Given the description of an element on the screen output the (x, y) to click on. 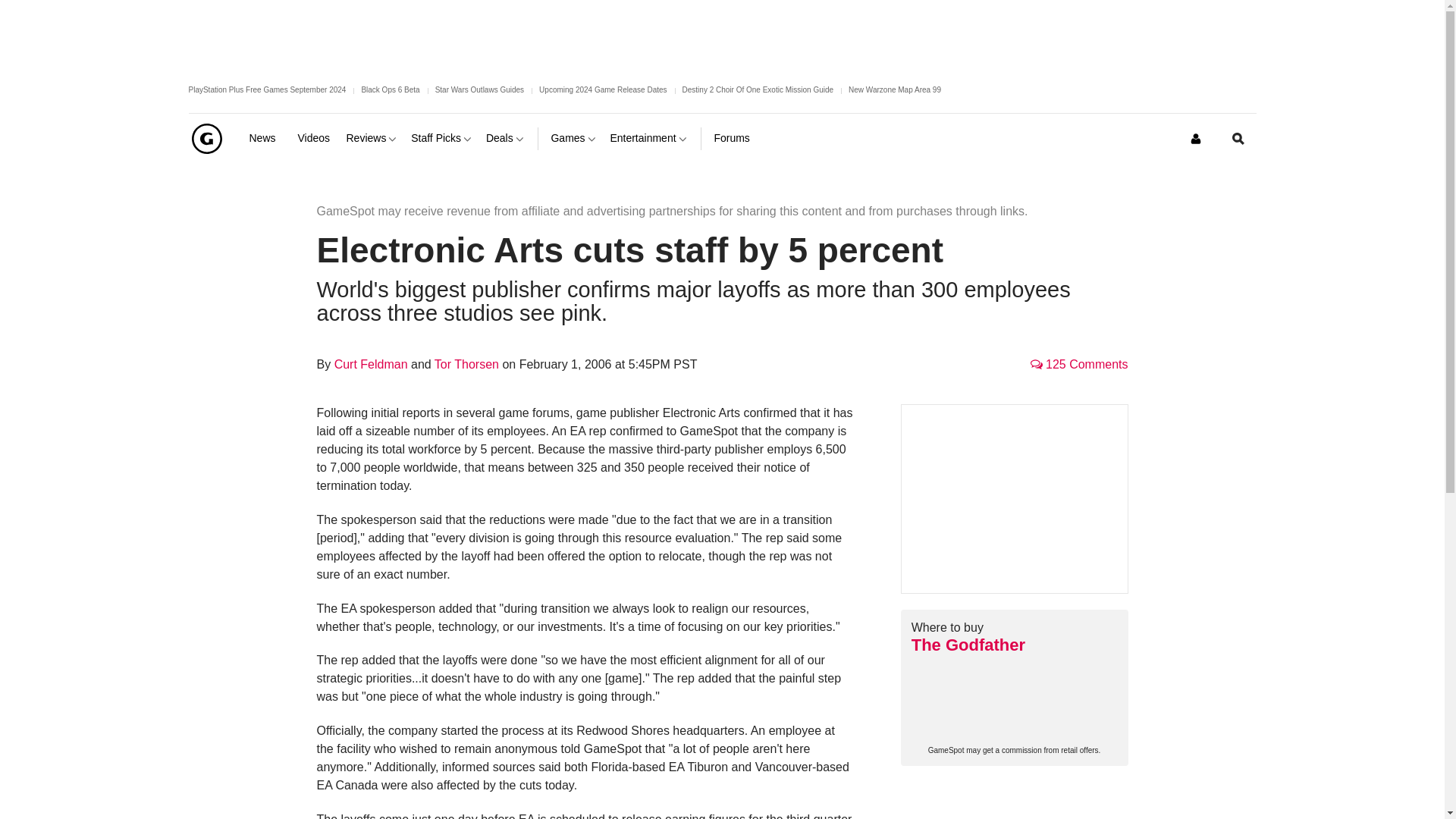
Upcoming 2024 Game Release Dates (602, 89)
Star Wars Outlaws Guides (479, 89)
GameSpot (205, 138)
New Warzone Map Area 99 (894, 89)
Staff Picks (442, 138)
Destiny 2 Choir Of One Exotic Mission Guide (758, 89)
Deals (505, 138)
Black Ops 6 Beta (390, 89)
Games (573, 138)
